Given the description of an element on the screen output the (x, y) to click on. 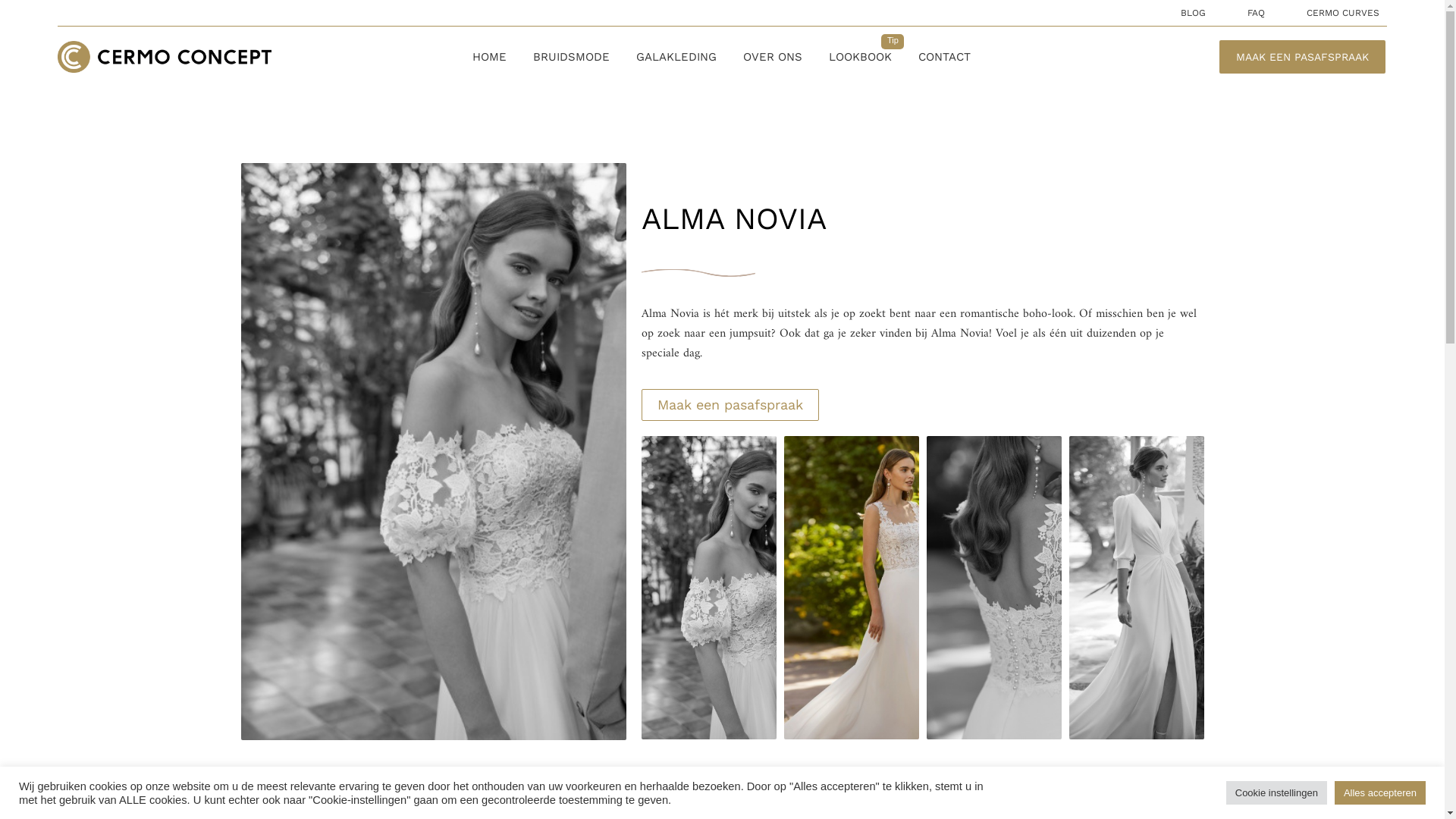
Maak een pasafspraak Element type: text (730, 404)
CERMO CURVES Element type: text (1342, 12)
LOOKBOOK Element type: text (859, 56)
CONTACT Element type: text (944, 56)
Alles accepteren Element type: text (1379, 792)
BRUIDSMODE Element type: text (571, 56)
Cookie instellingen Element type: text (1276, 792)
FAQ Element type: text (1255, 12)
BLOG Element type: text (1193, 12)
GALAKLEDING Element type: text (676, 56)
OVER ONS Element type: text (772, 56)
HOME Element type: text (489, 56)
MAAK EEN PASAFSPRAAK Element type: text (1302, 56)
